Given the description of an element on the screen output the (x, y) to click on. 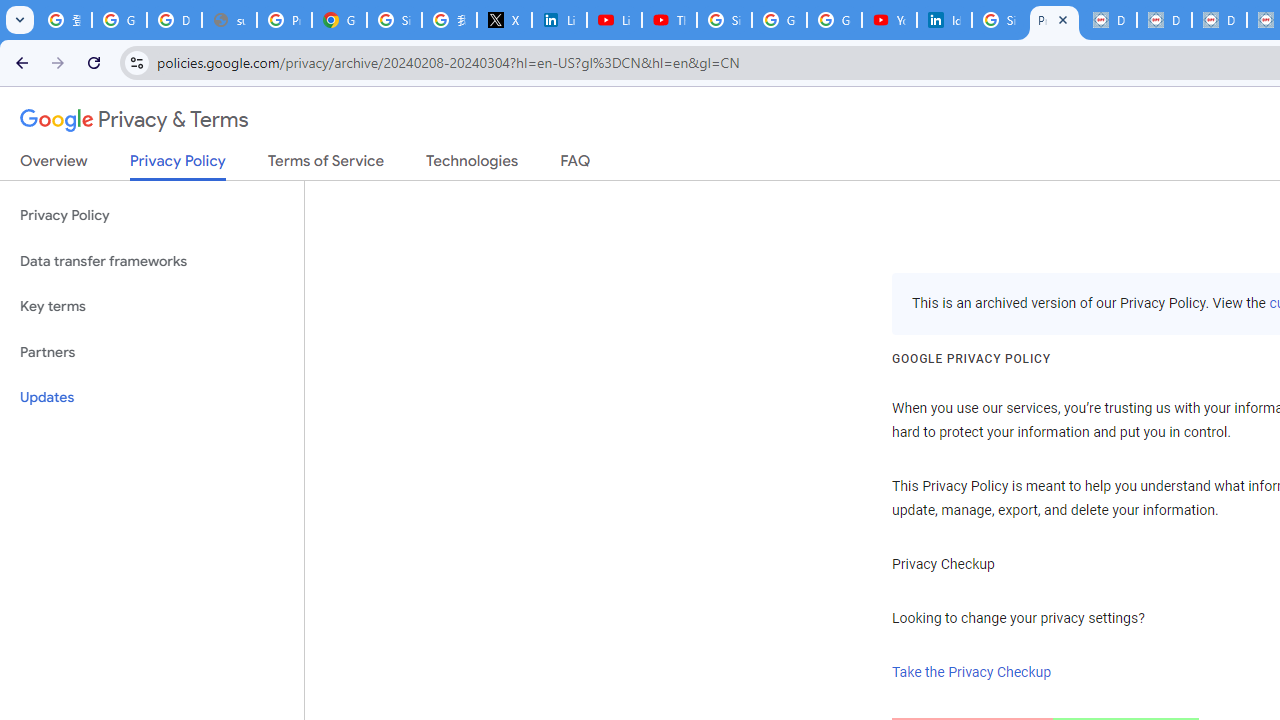
Data Privacy Framework (1218, 20)
LinkedIn Privacy Policy (559, 20)
Privacy Help Center - Policies Help (284, 20)
Data Privacy Framework (1163, 20)
